Given the description of an element on the screen output the (x, y) to click on. 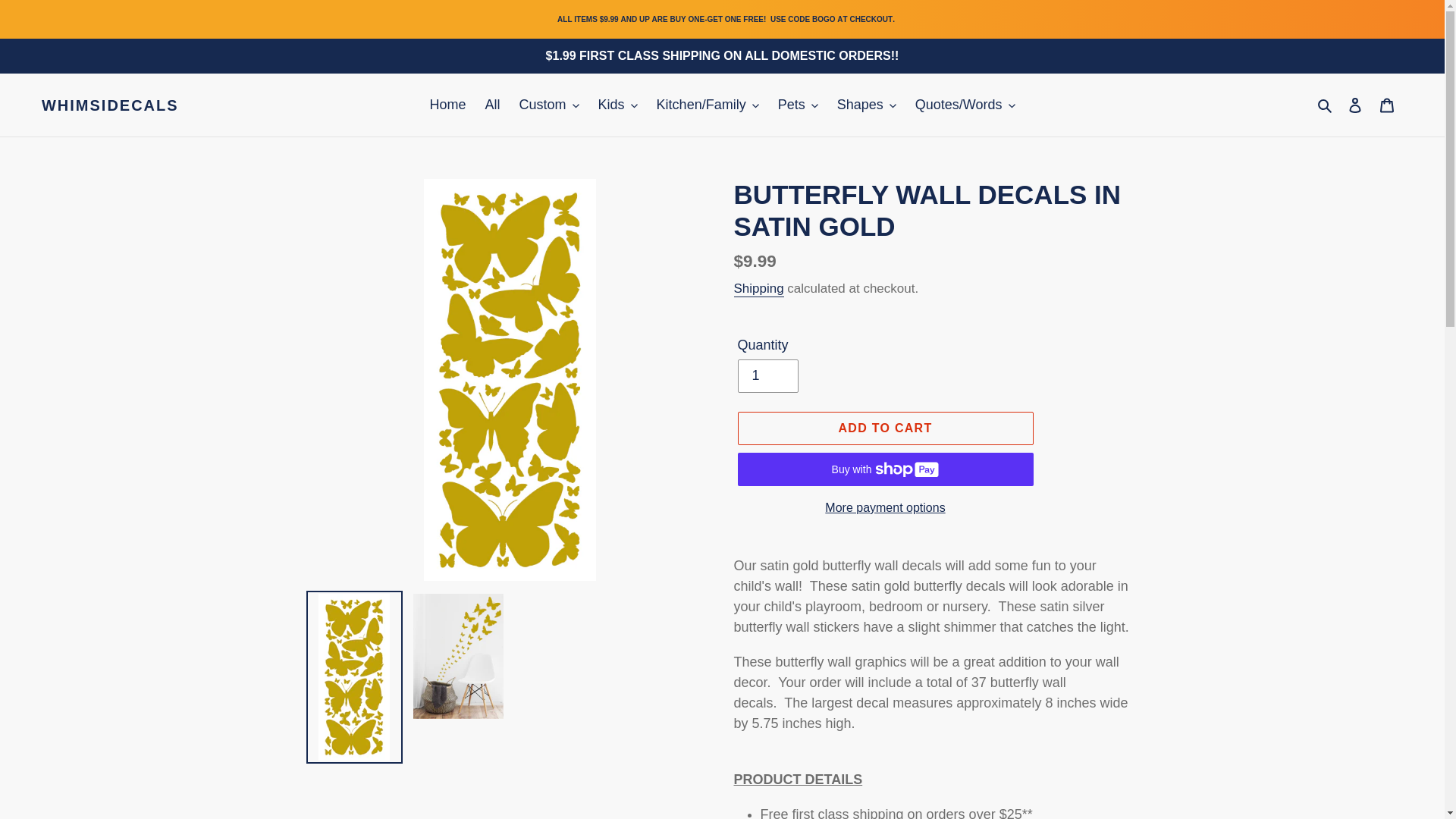
Kids (618, 104)
WHIMSIDECALS (110, 104)
1 (766, 376)
All (492, 104)
Custom (549, 104)
Home (447, 104)
